Given the description of an element on the screen output the (x, y) to click on. 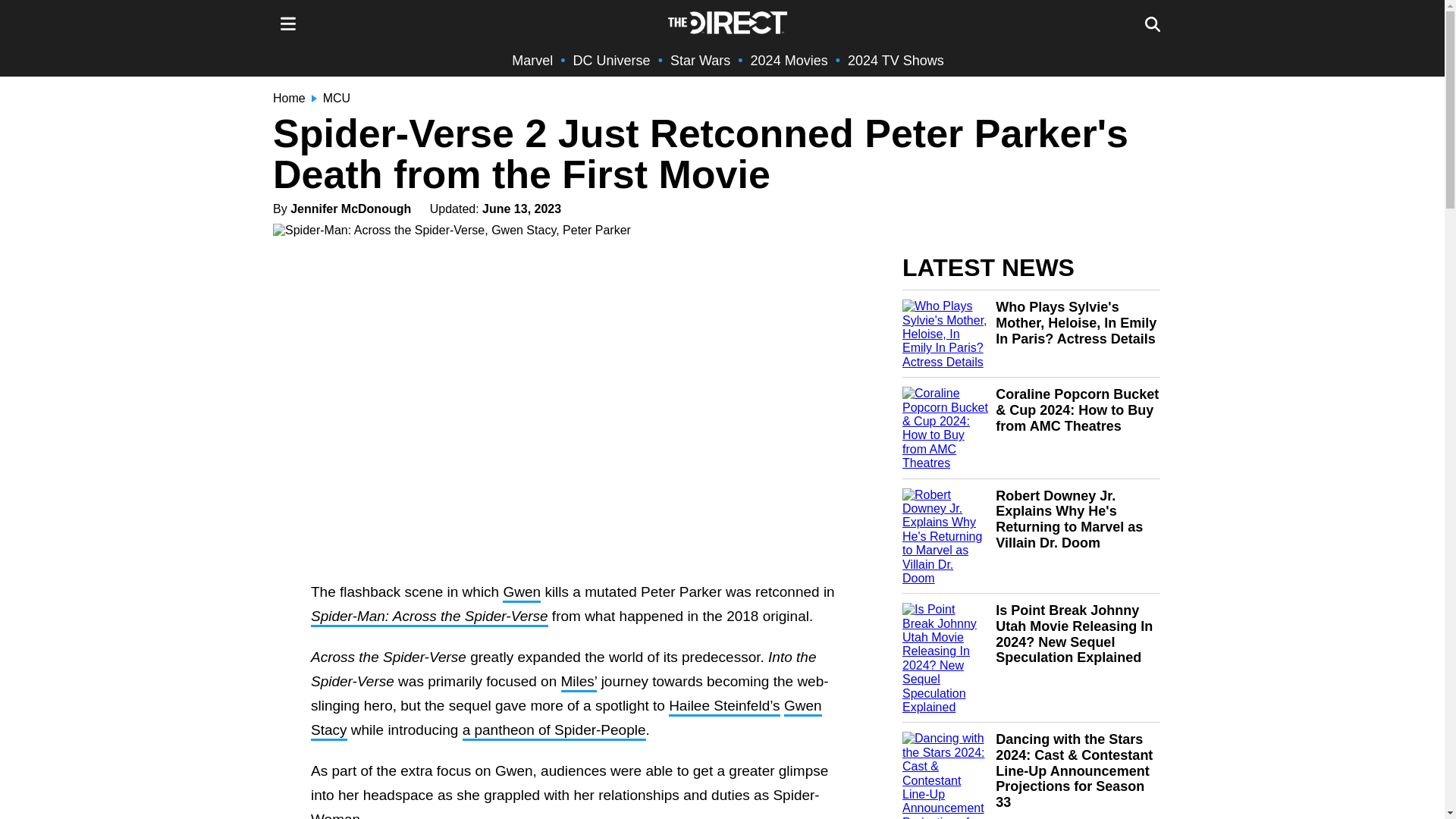
Star Wars (699, 60)
2024 Movies (789, 60)
2024 TV Shows (895, 60)
DC Universe (611, 60)
Marvel (532, 60)
